Given the description of an element on the screen output the (x, y) to click on. 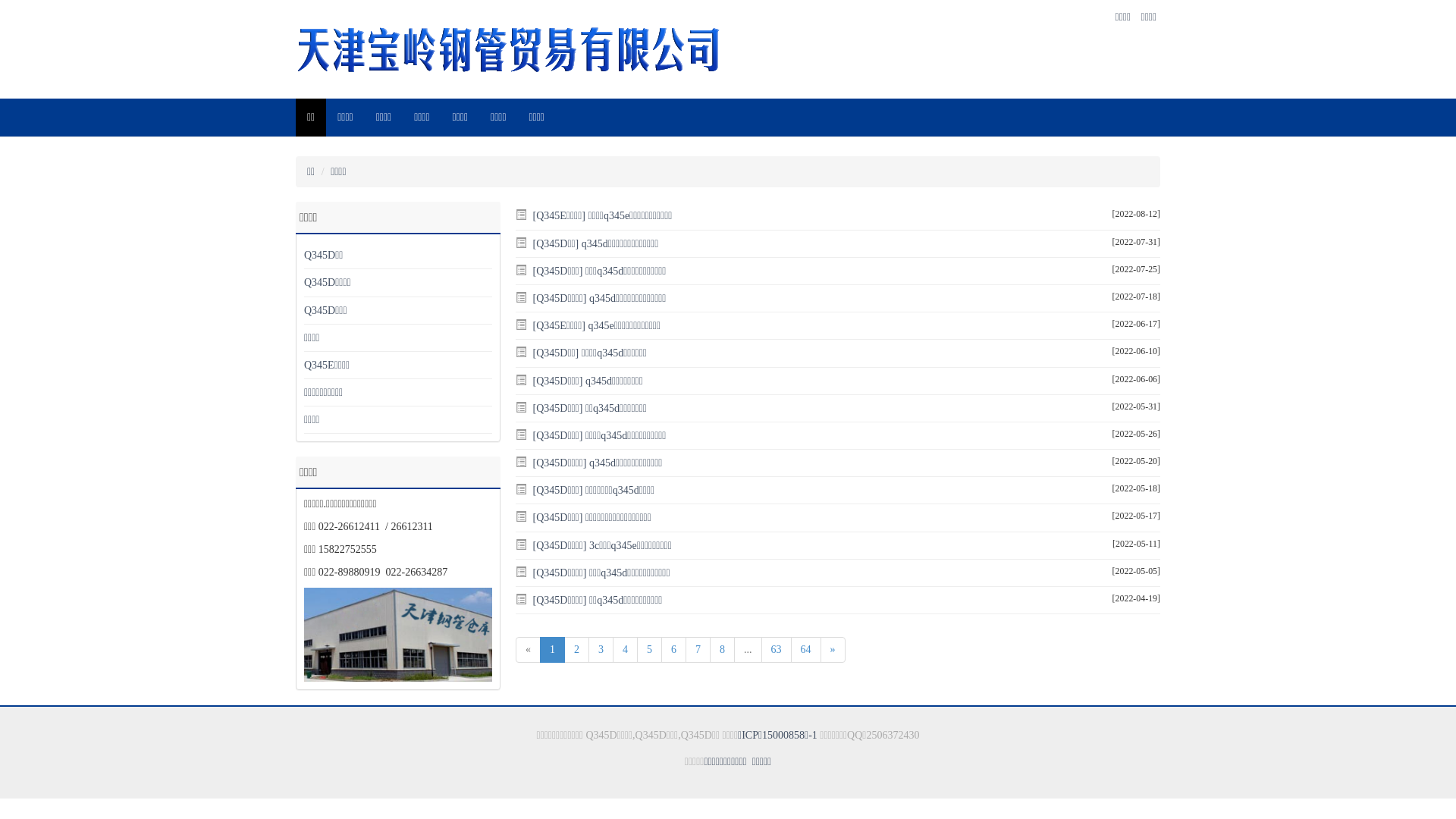
5 Element type: text (649, 649)
63 Element type: text (776, 649)
2 Element type: text (576, 649)
8 Element type: text (721, 649)
64 Element type: text (805, 649)
3 Element type: text (600, 649)
7 Element type: text (697, 649)
4 Element type: text (624, 649)
6 Element type: text (673, 649)
